Given the description of an element on the screen output the (x, y) to click on. 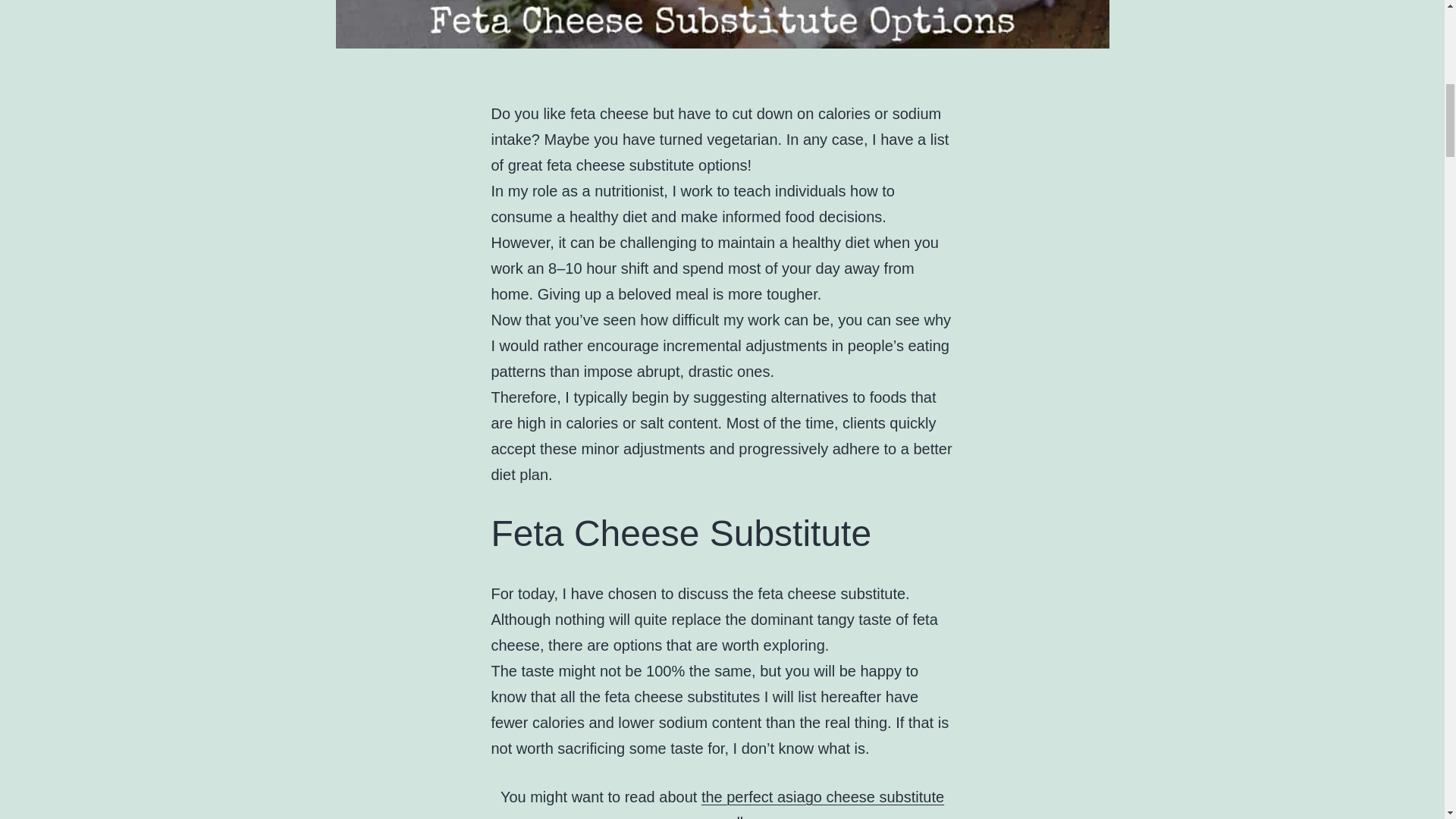
the perfect asiago cheese substitute (822, 796)
